Given the description of an element on the screen output the (x, y) to click on. 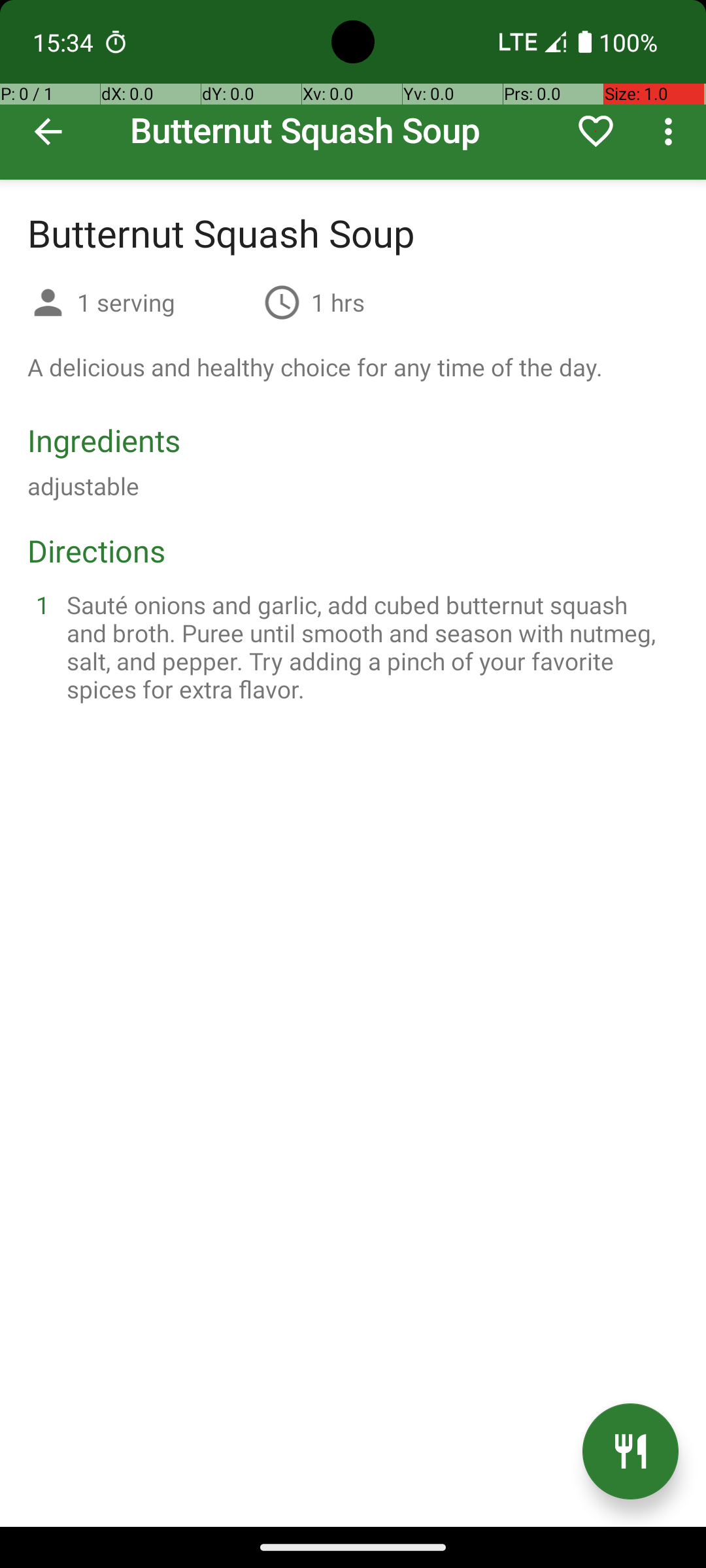
Sauté onions and garlic, add cubed butternut squash and broth. Puree until smooth and season with nutmeg, salt, and pepper. Try adding a pinch of your favorite spices for extra flavor. Element type: android.widget.TextView (368, 646)
